Given the description of an element on the screen output the (x, y) to click on. 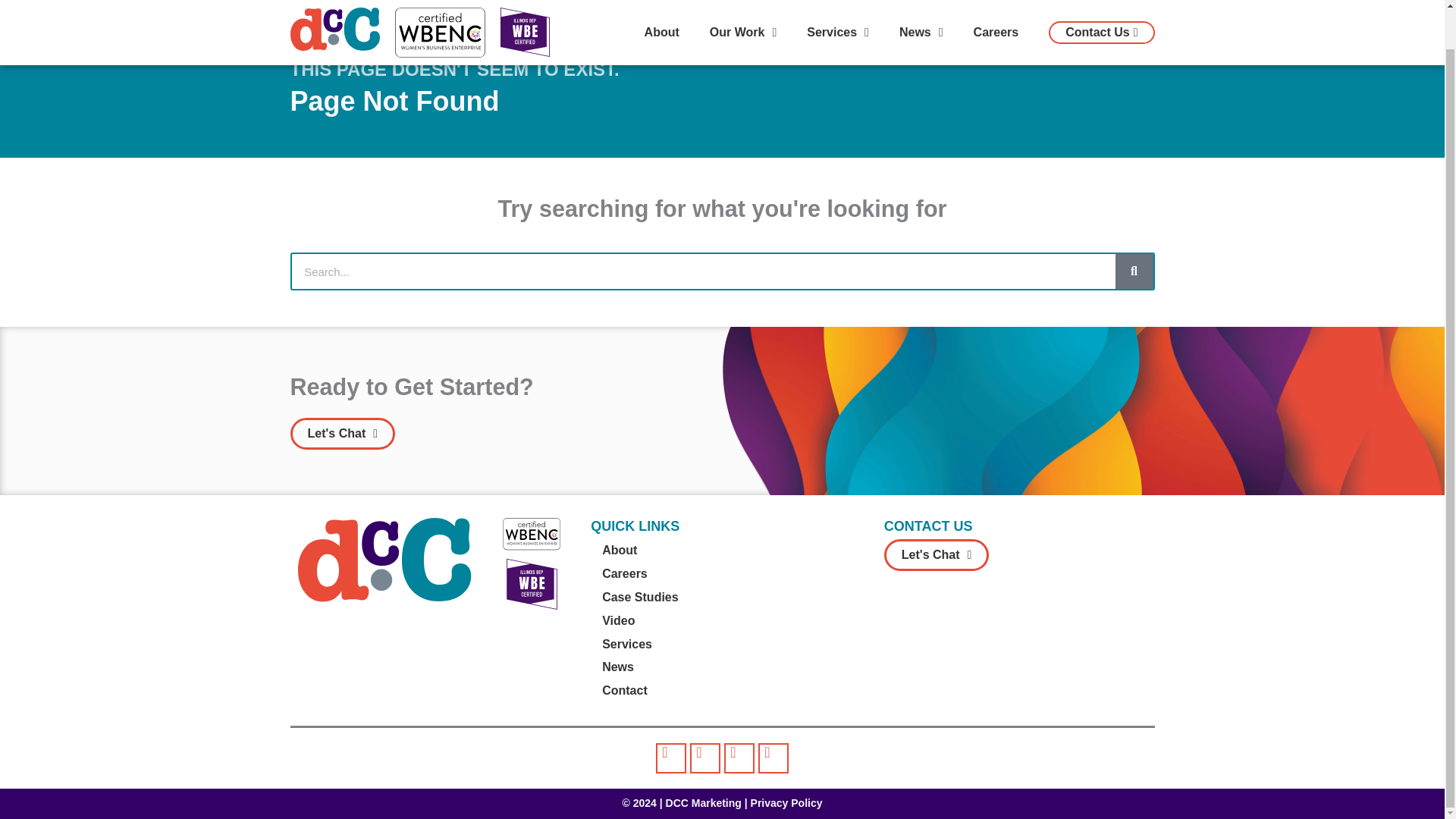
Our Work (743, 4)
Services (837, 4)
About (661, 4)
Careers (995, 4)
News (920, 4)
Contact Us (1101, 1)
